Given the description of an element on the screen output the (x, y) to click on. 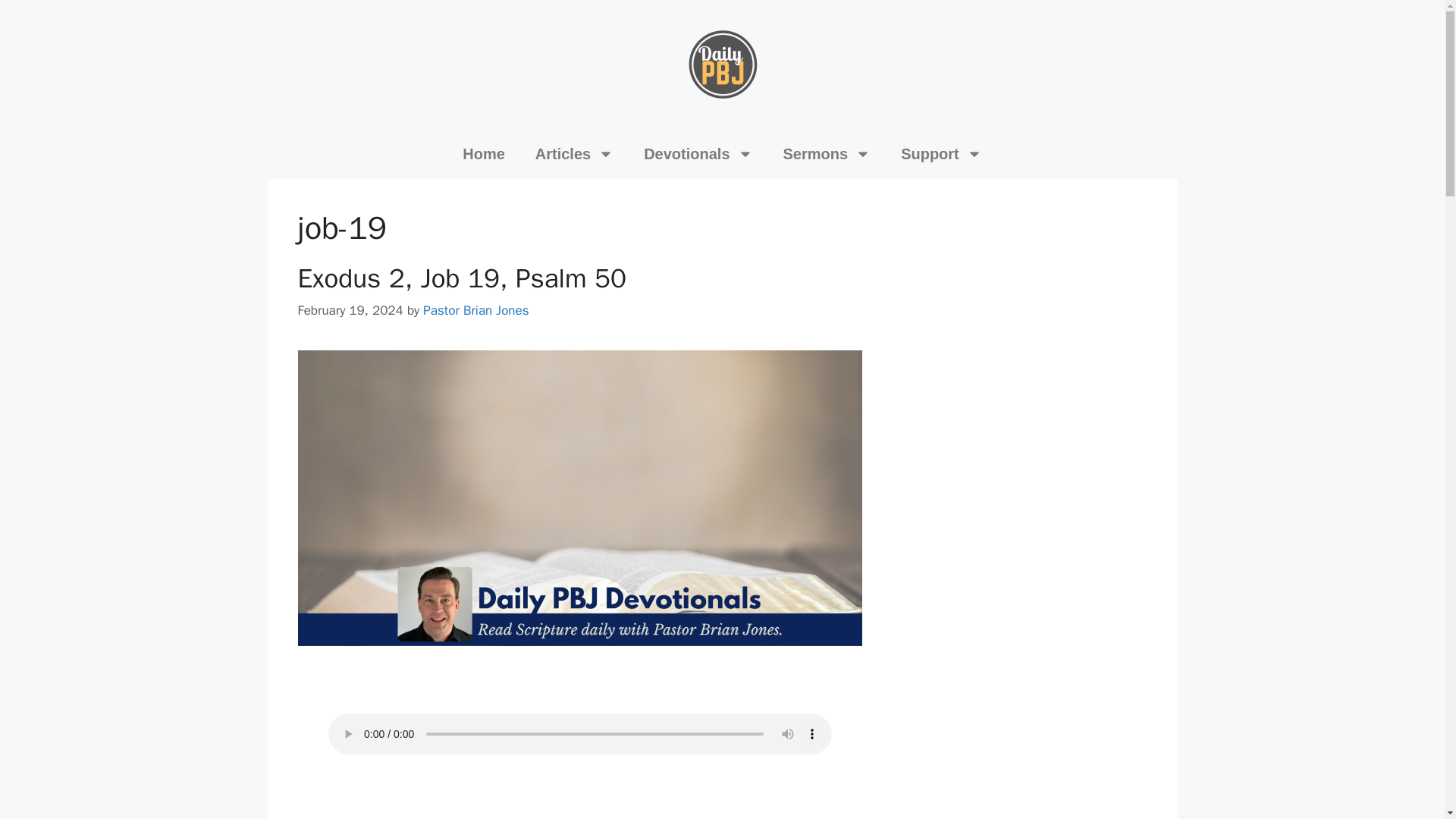
Home (482, 153)
Support (941, 153)
Job 19 (579, 790)
View all posts by Pastor Brian Jones (475, 310)
Articles (573, 153)
Pastor Brian Jones (475, 310)
Sermons (827, 153)
Devotionals (697, 153)
Exodus 2, Job 19, Psalm 50 (461, 277)
